Given the description of an element on the screen output the (x, y) to click on. 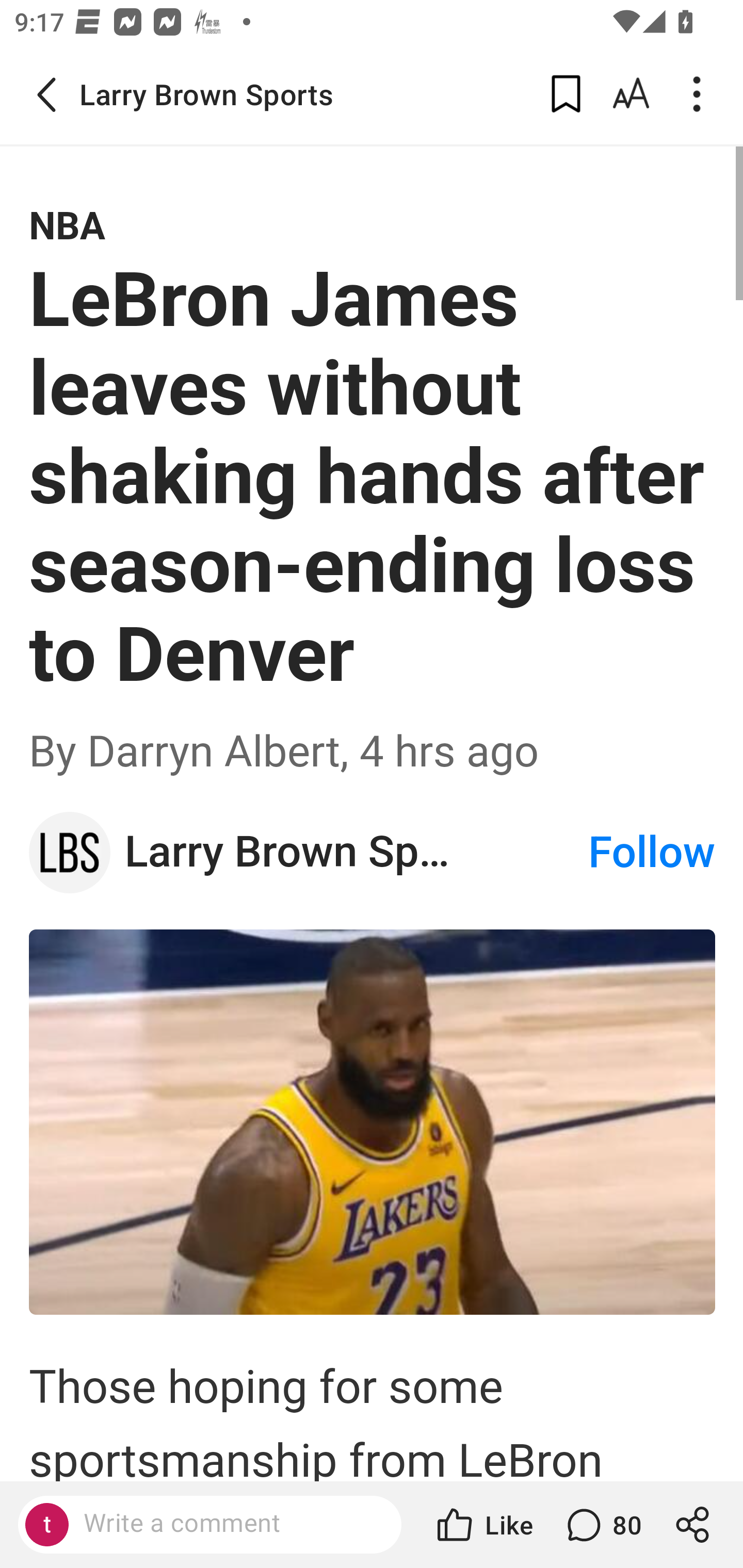
Like (483, 1524)
80 (601, 1524)
Write a comment (226, 1523)
